Given the description of an element on the screen output the (x, y) to click on. 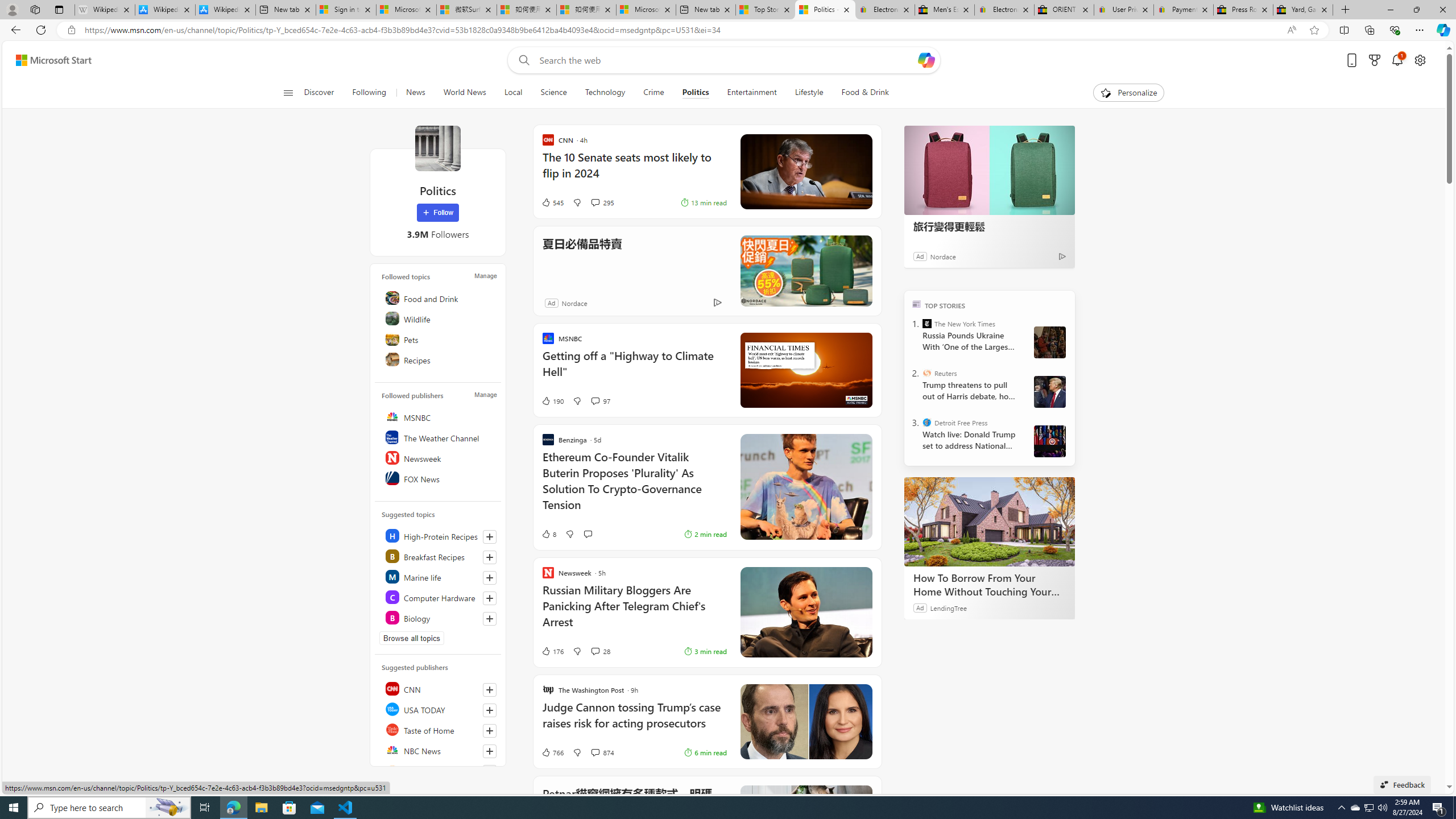
Follow this source (489, 751)
Recipes (439, 359)
The Weather Channel (439, 437)
USA TODAY (439, 709)
